Given the description of an element on the screen output the (x, y) to click on. 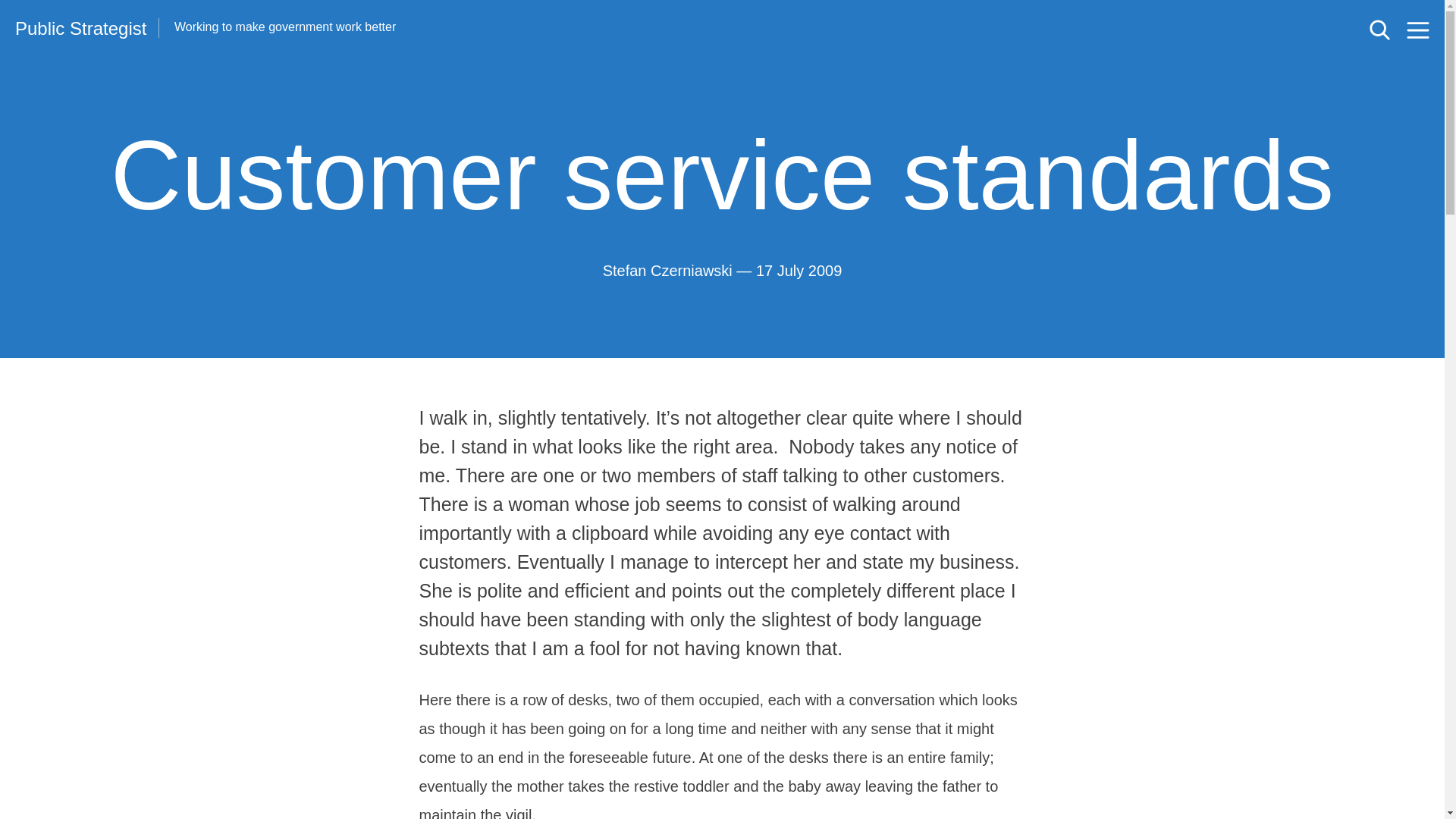
Public Strategist (80, 28)
17 July 2009 (798, 271)
Stefan Czerniawski (667, 271)
